Given the description of an element on the screen output the (x, y) to click on. 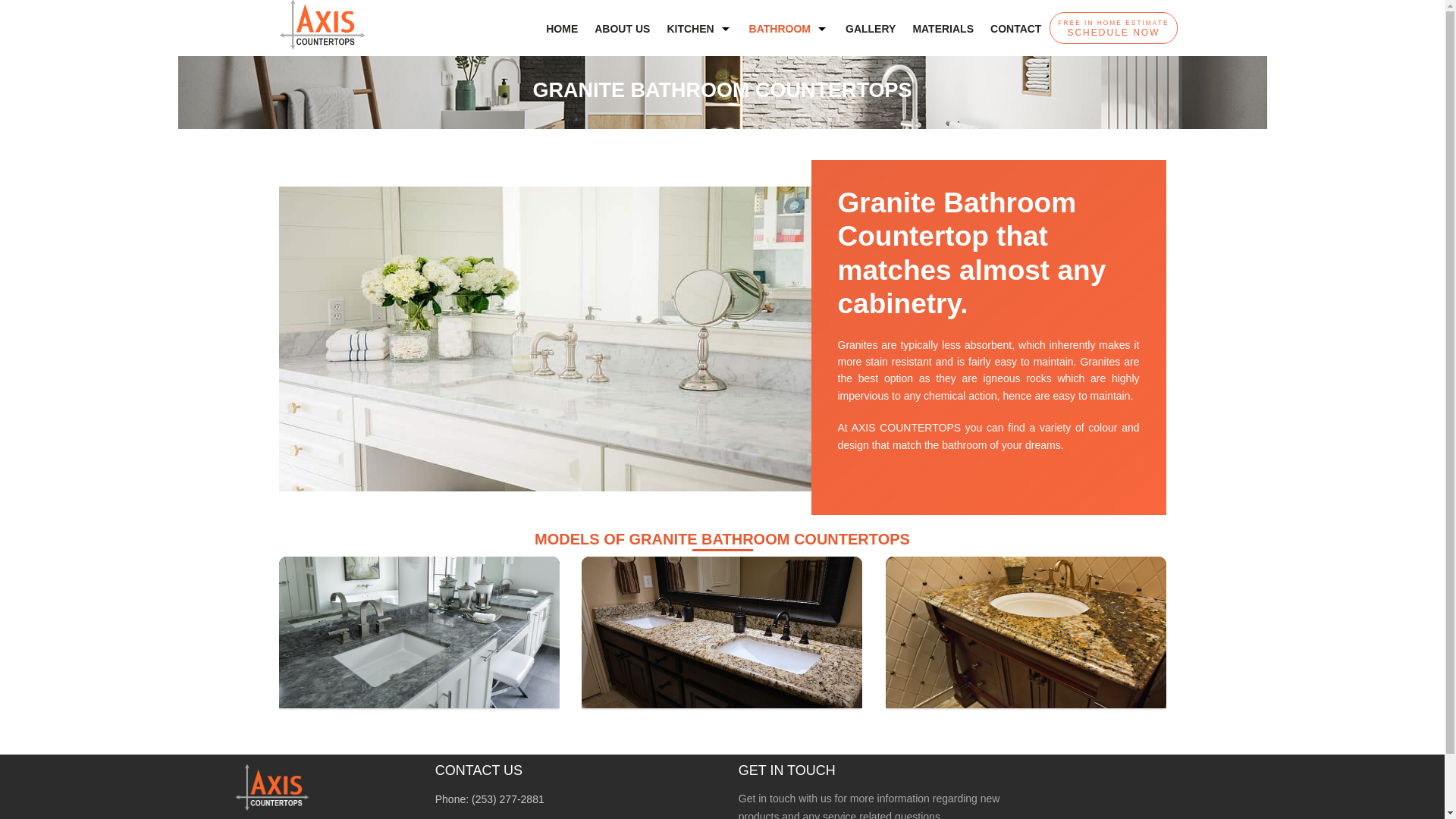
KITCHEN (698, 32)
GALLERY (870, 32)
CONTACT (1015, 32)
BATHROOM (789, 32)
MATERIALS (942, 32)
ABOUT US (1112, 28)
HOME (622, 32)
